Given the description of an element on the screen output the (x, y) to click on. 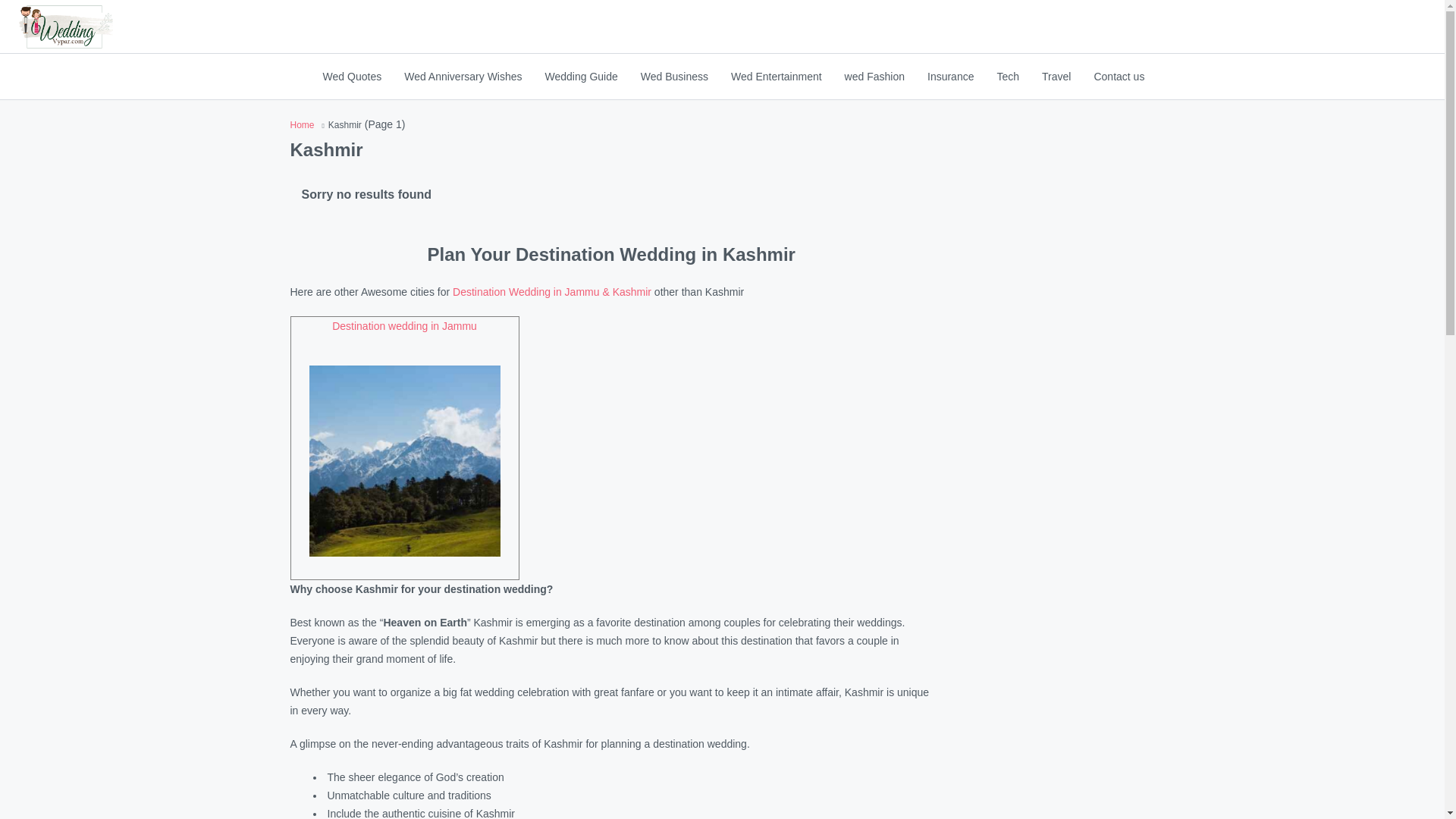
Wed Quotes (352, 76)
Wedding Guide (581, 76)
Wed Anniversary Wishes (462, 76)
 -  (65, 26)
